Given the description of an element on the screen output the (x, y) to click on. 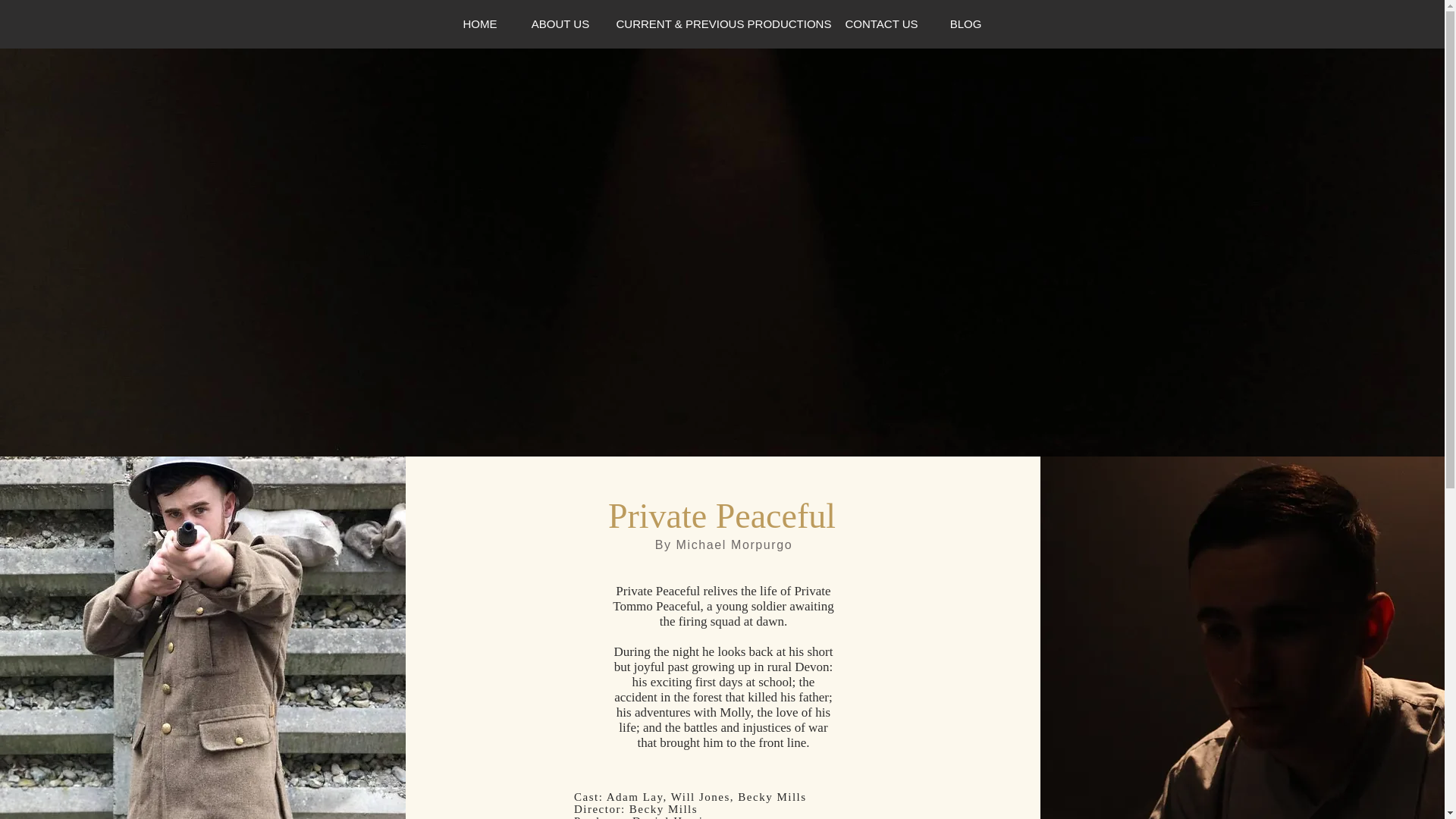
ABOUT US (559, 24)
CONTACT US (882, 24)
BLOG (965, 24)
HOME (480, 24)
